Given the description of an element on the screen output the (x, y) to click on. 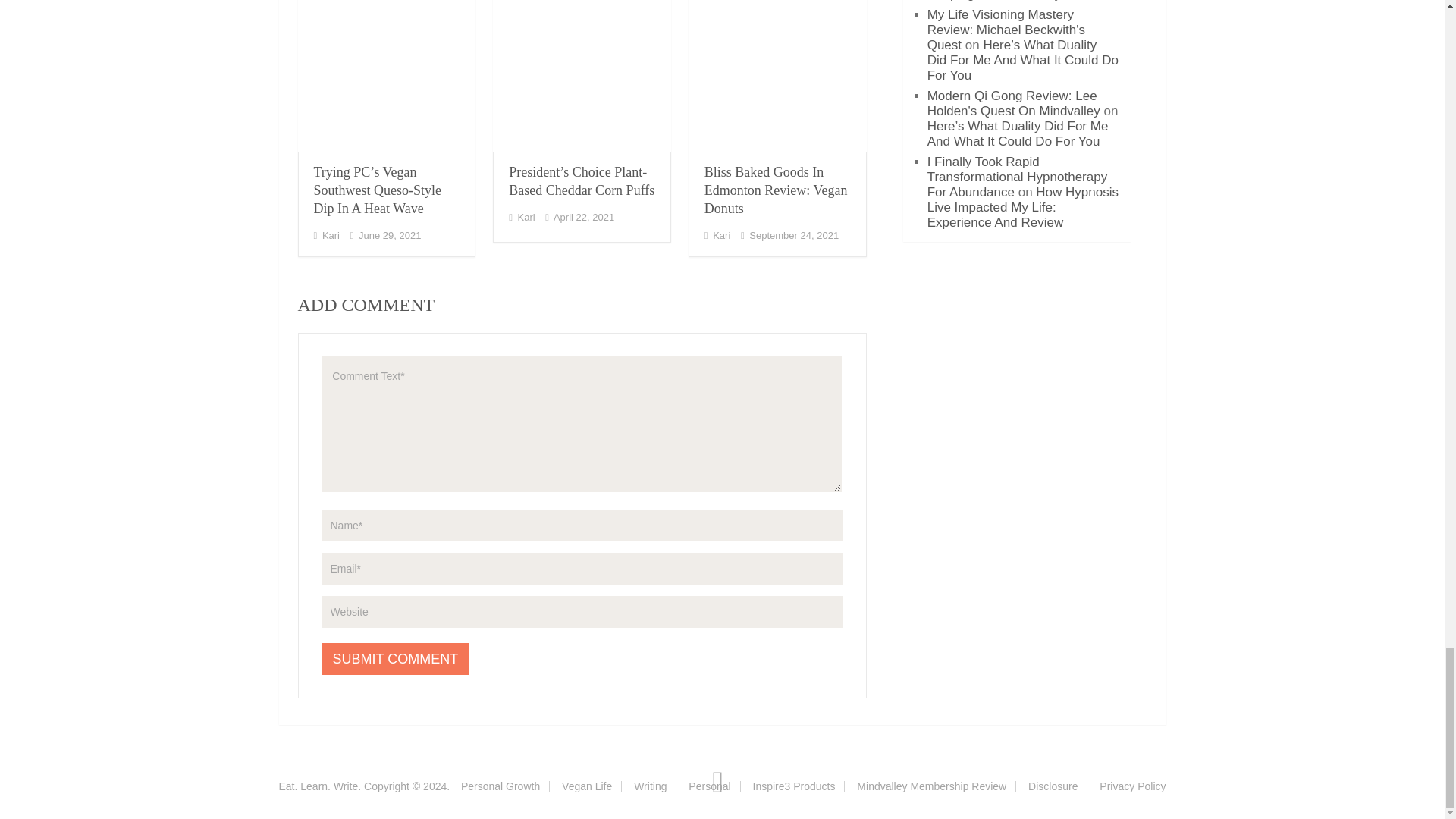
Bliss Baked Goods In Edmonton Review: Vegan Donuts (777, 75)
Posts by Kari (330, 235)
Posts by Kari (526, 216)
Bliss Baked Goods In Edmonton Review: Vegan Donuts (775, 190)
Posts by Kari (721, 235)
Submit Comment (395, 658)
